Given the description of an element on the screen output the (x, y) to click on. 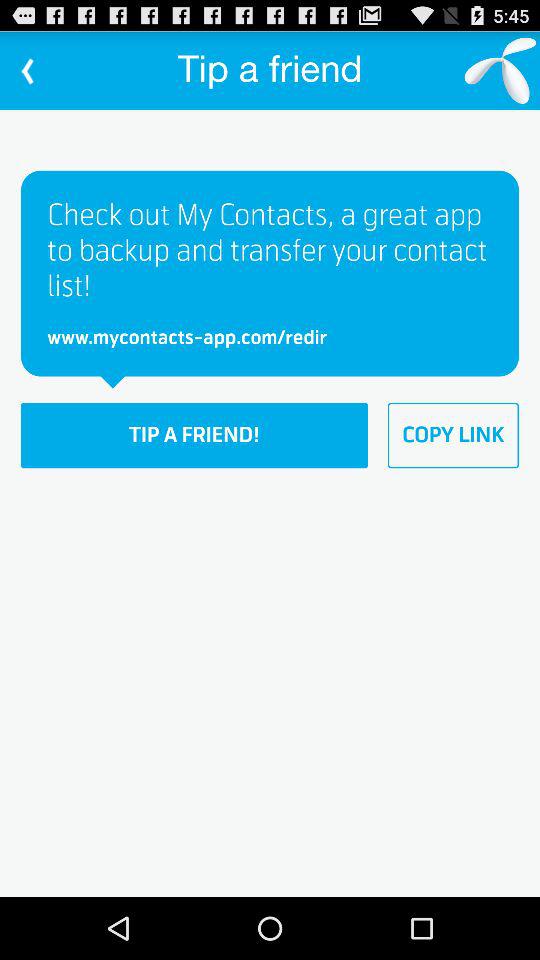
click the copy link item (453, 435)
